Given the description of an element on the screen output the (x, y) to click on. 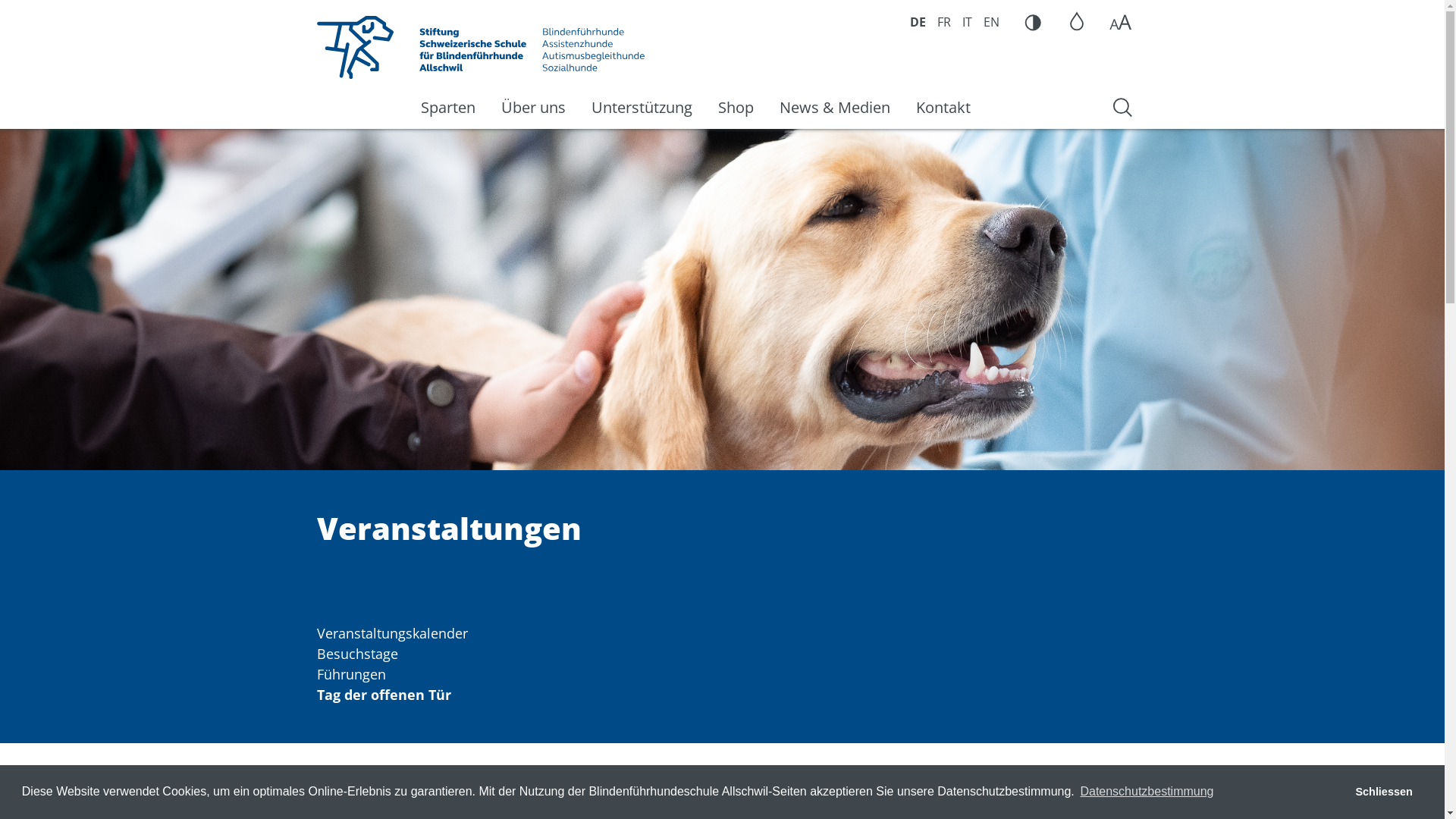
EN Element type: text (991, 21)
Kontakt Element type: text (942, 106)
News & Medien Element type: text (833, 106)
Veranstaltungskalender Element type: text (391, 633)
Besuchstage Element type: text (357, 653)
IT Element type: text (967, 21)
Schliessen Element type: text (1383, 791)
DE Element type: text (917, 21)
Shop Element type: text (735, 106)
Sparten Element type: text (447, 106)
Datenschutzbestimmung Element type: text (1146, 791)
FR Element type: text (943, 21)
